Given the description of an element on the screen output the (x, y) to click on. 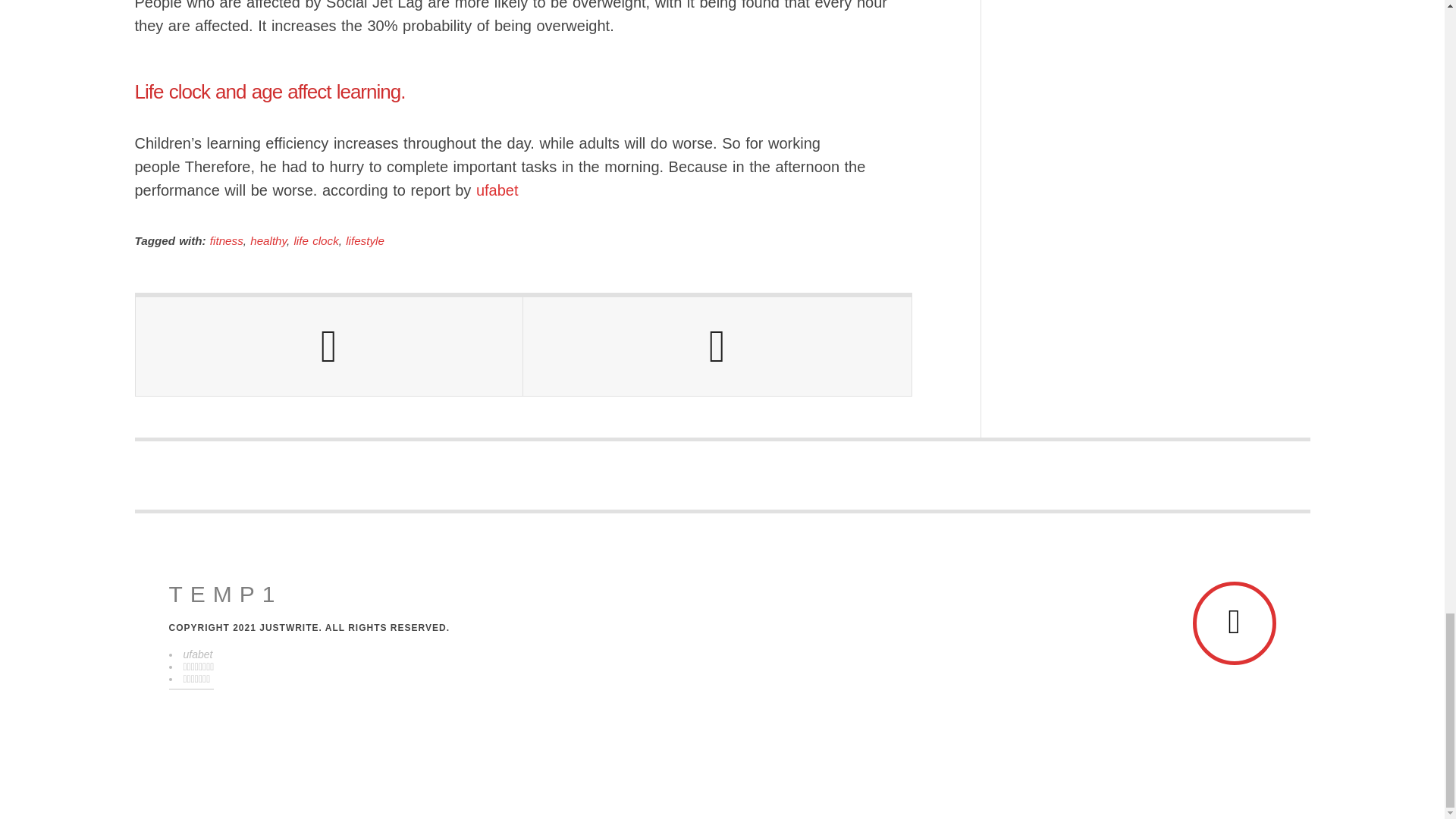
Previous Post (328, 346)
ufabet (497, 190)
caymanislandshospital.com (225, 594)
healthy (268, 240)
life clock (316, 240)
lifestyle (365, 240)
Next Post (716, 346)
fitness (226, 240)
